Given the description of an element on the screen output the (x, y) to click on. 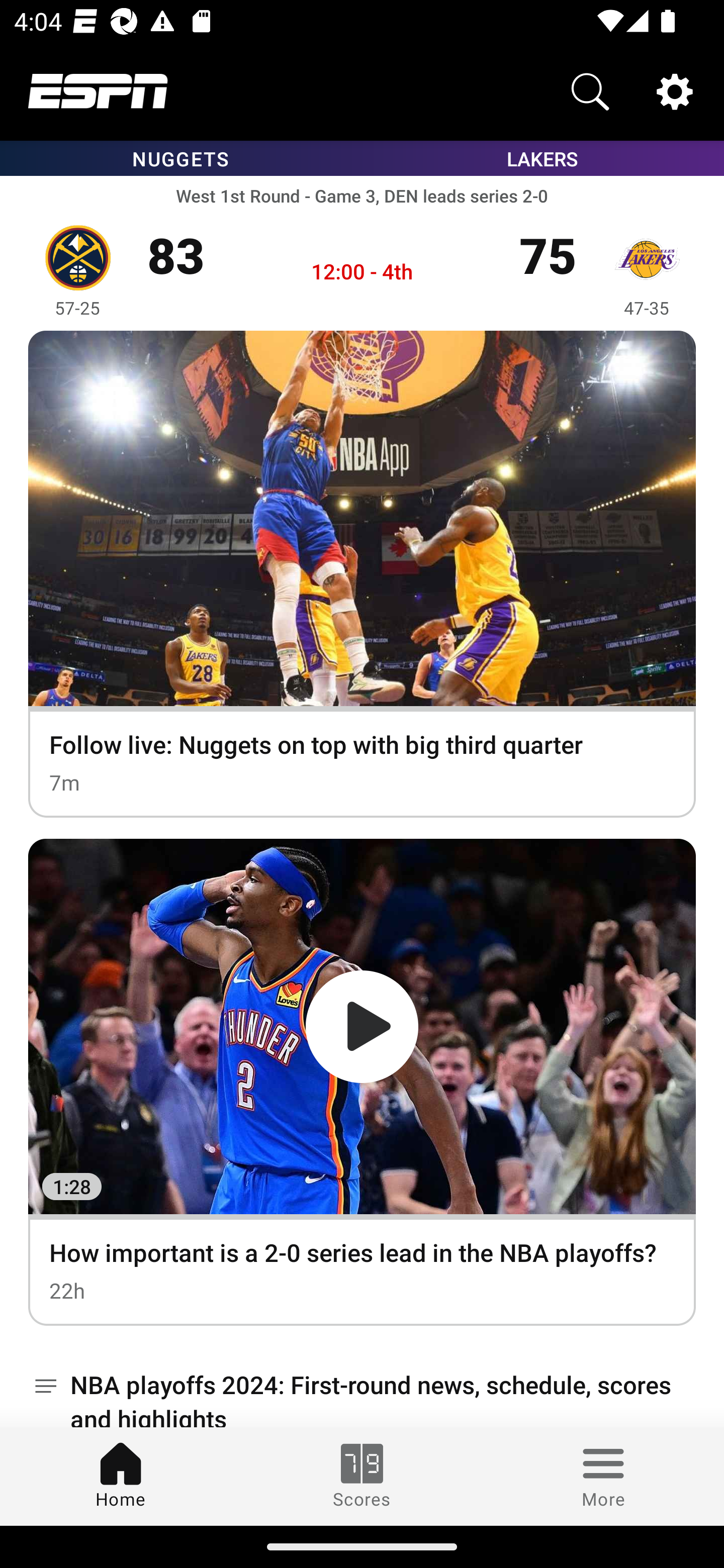
Search (590, 90)
Settings (674, 90)
Scores (361, 1475)
More (603, 1475)
